Given the description of an element on the screen output the (x, y) to click on. 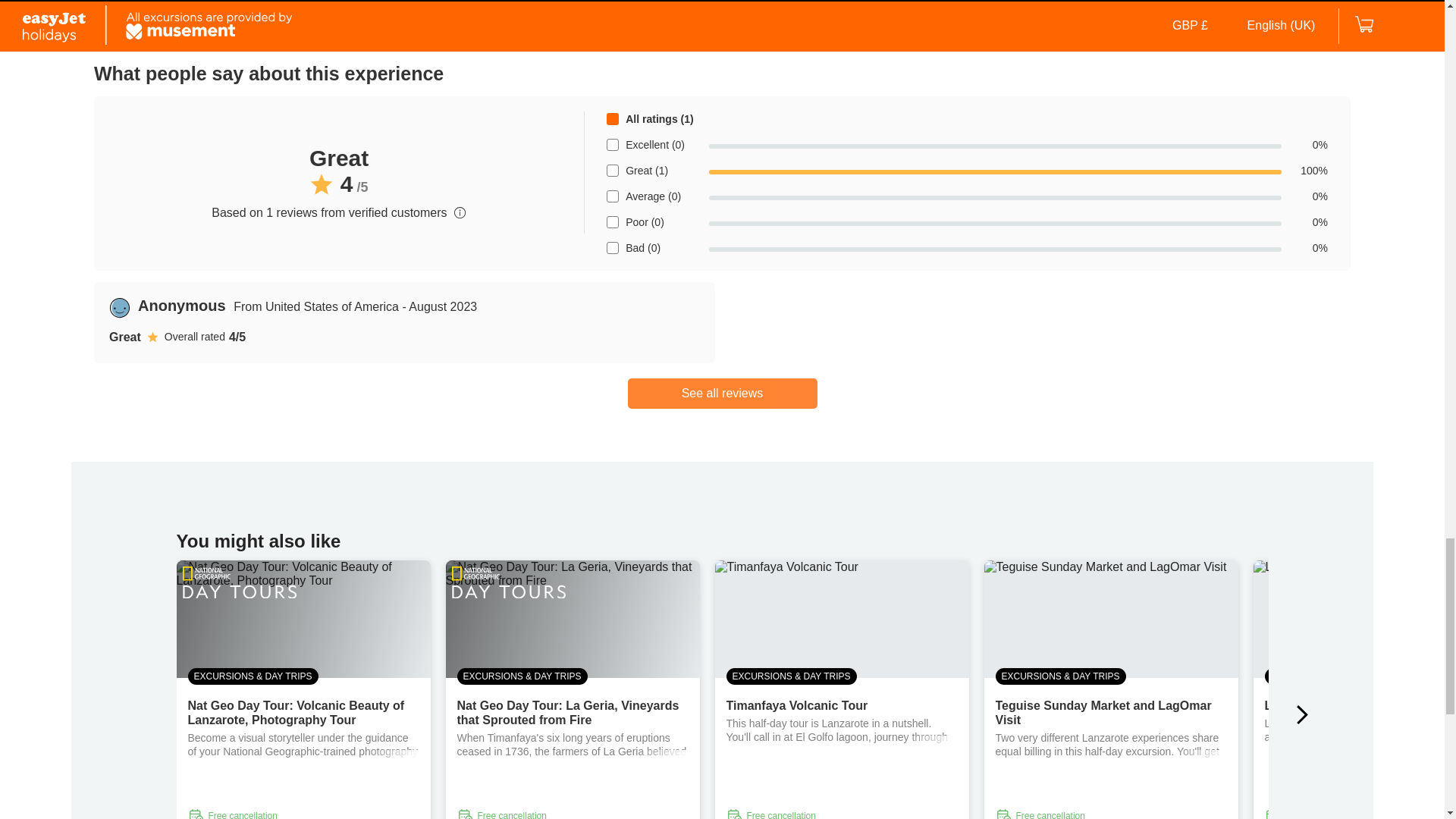
Teguise Sunday Market and LagOmar Visit (1102, 712)
See all reviews (721, 392)
Timanfaya Volcanic Tour (796, 705)
